Given the description of an element on the screen output the (x, y) to click on. 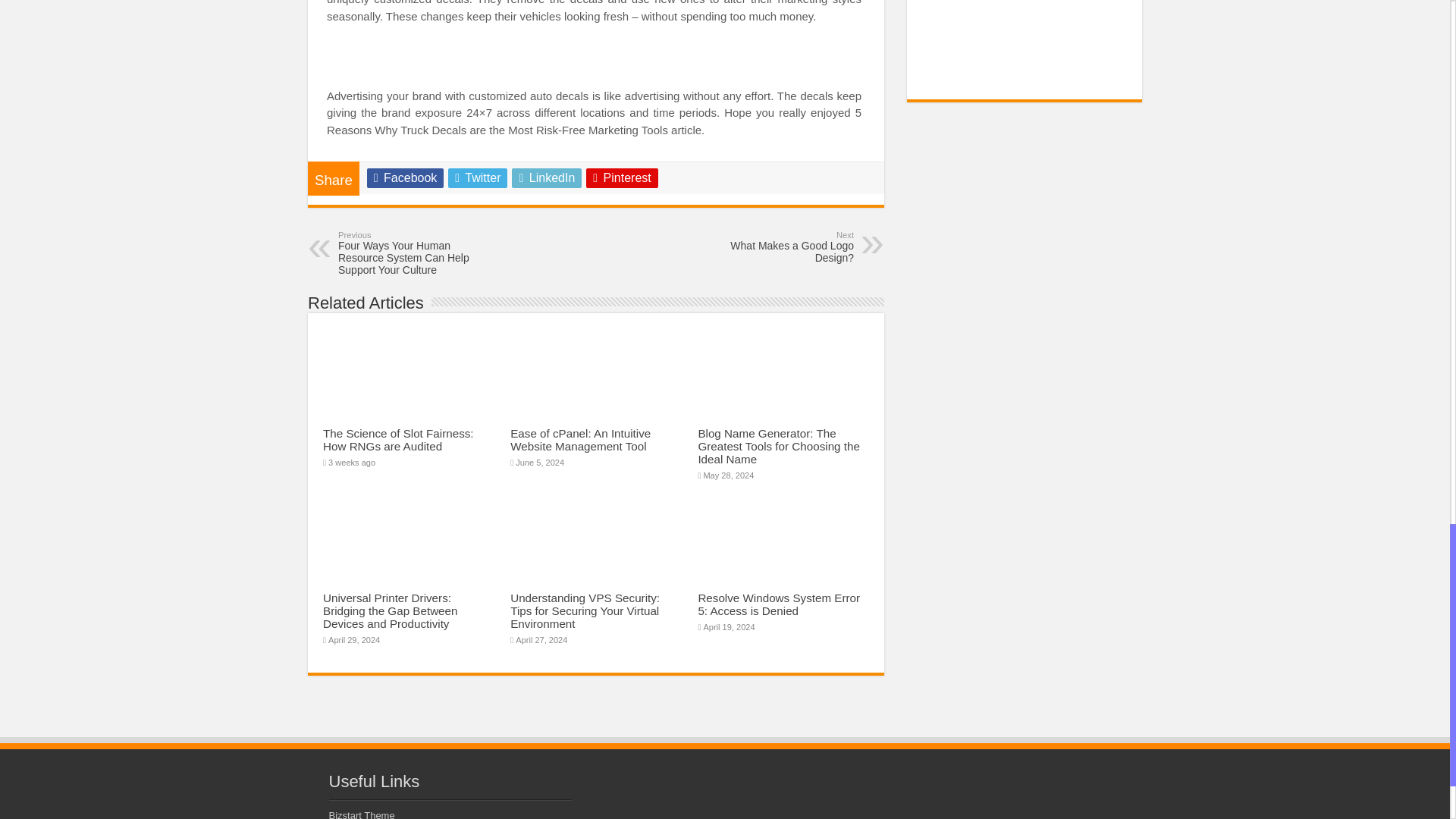
Advertisement (1027, 39)
Twitter (477, 178)
Pinterest (622, 178)
Facebook (775, 246)
LinkedIn (405, 178)
The Science of Slot Fairness: How RNGs are Audited (546, 178)
Ease of cPanel: An Intuitive Website Management Tool (398, 439)
